Given the description of an element on the screen output the (x, y) to click on. 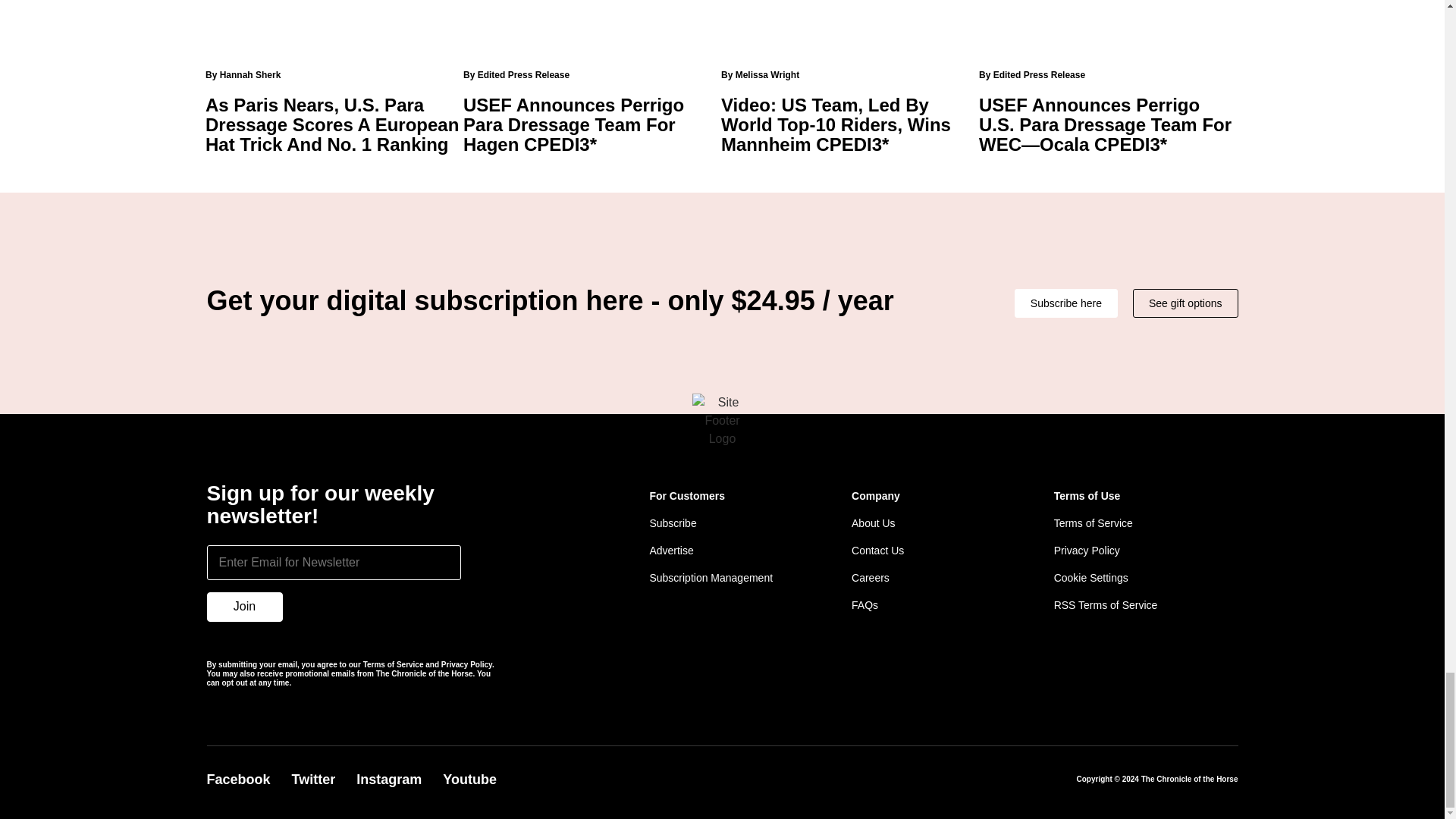
Join (244, 606)
